Given the description of an element on the screen output the (x, y) to click on. 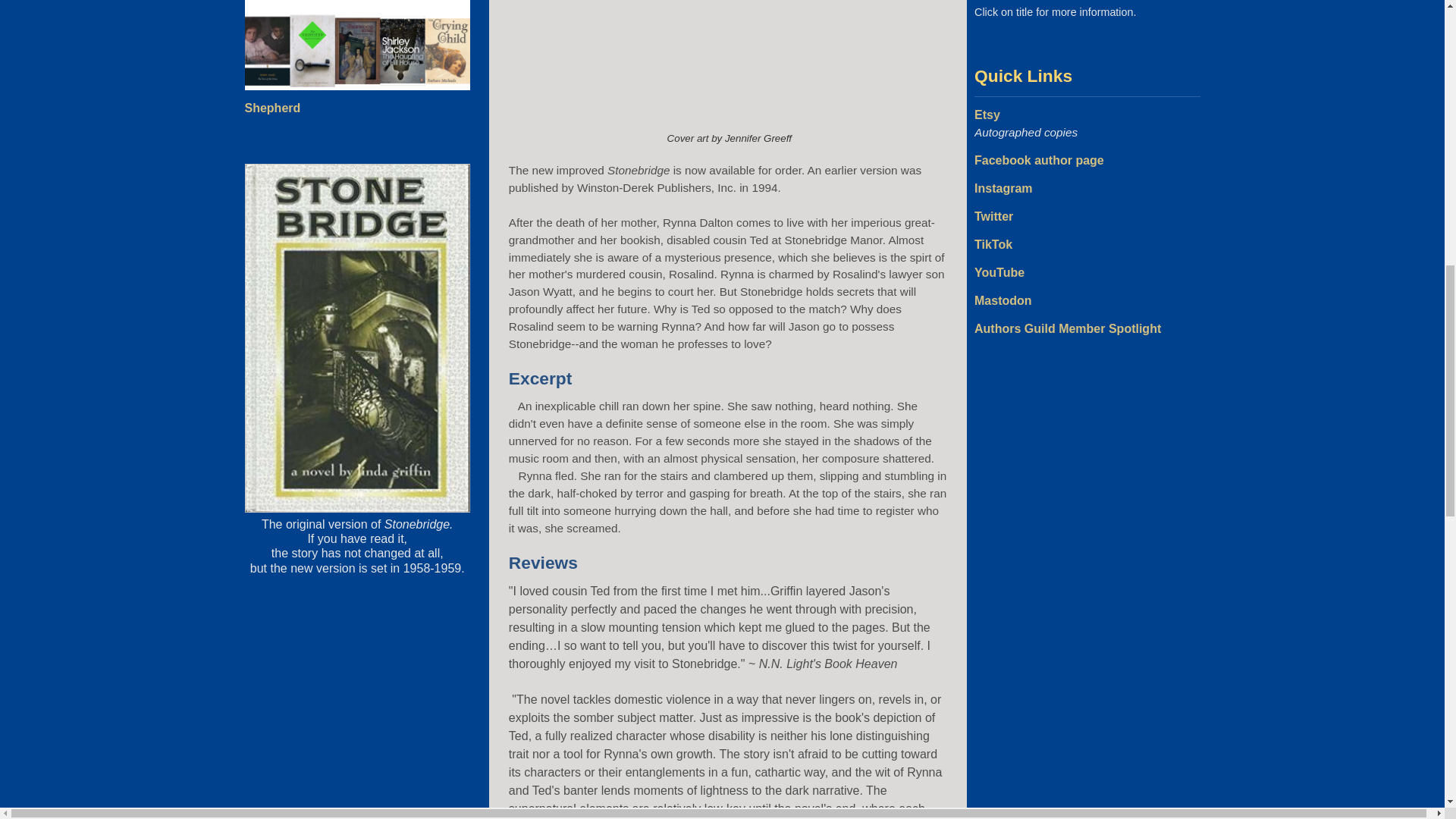
YouTube (999, 272)
Authors Guild Member Spotlight (1067, 328)
TikTok (992, 244)
Instagram (1003, 187)
Twitter (993, 215)
Facebook author page (1038, 160)
Shepherd (271, 107)
Mastodon (1003, 300)
Etsy (987, 114)
